Given the description of an element on the screen output the (x, y) to click on. 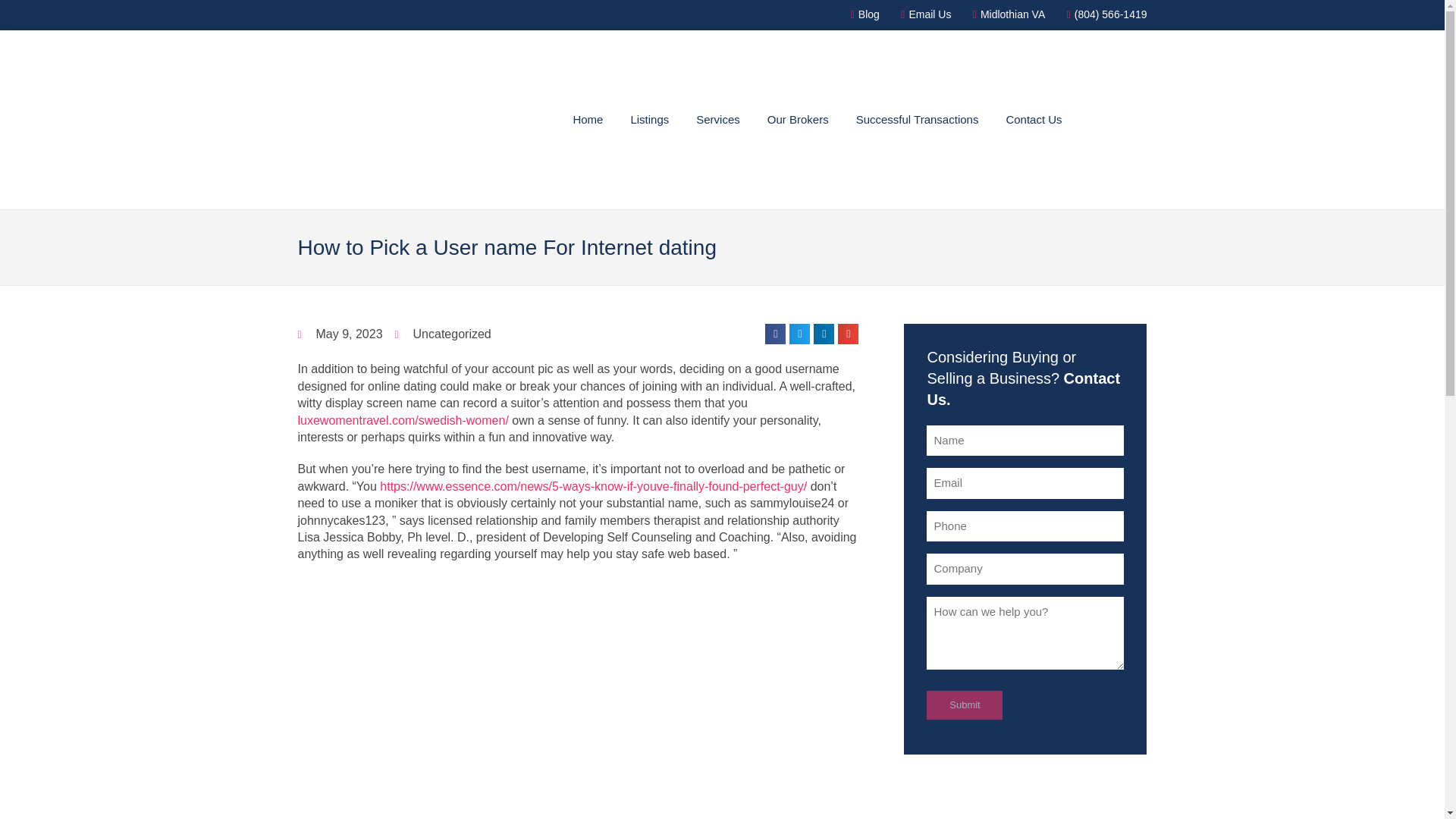
Submit (964, 705)
Uncategorized (452, 333)
May 9, 2023 (339, 334)
Midlothian VA (1003, 14)
Email Us (921, 14)
Submit (964, 705)
Services (717, 119)
Home (588, 119)
Blog (860, 14)
Our Brokers (797, 119)
